Given the description of an element on the screen output the (x, y) to click on. 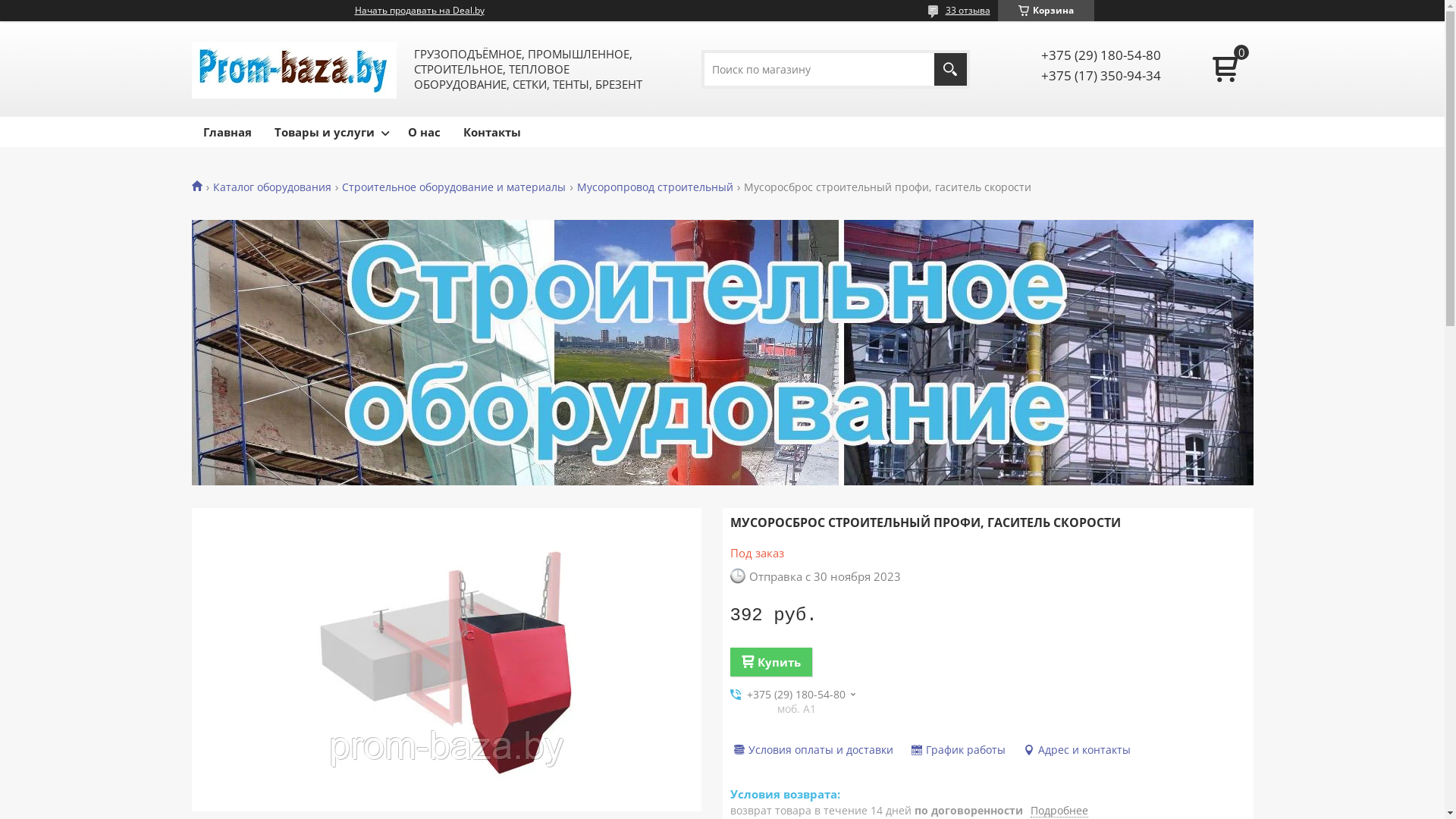
PROM-BAZA.by Element type: hover (293, 68)
Prom-baza.by Element type: hover (201, 185)
